Given the description of an element on the screen output the (x, y) to click on. 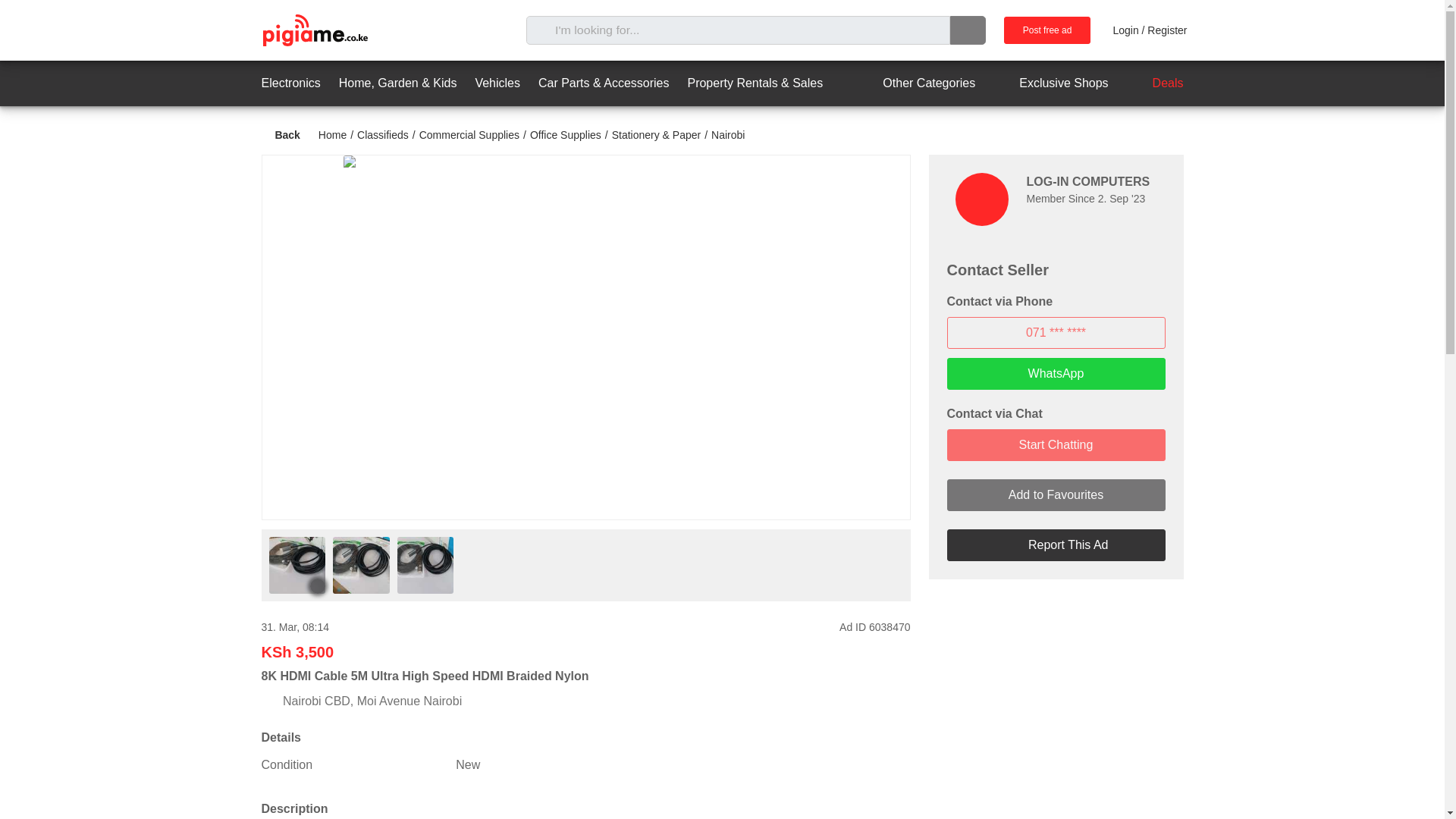
Home (332, 134)
PigiaMe (314, 29)
Nairobi (727, 134)
Other Categories (915, 83)
Start Chatting (1055, 445)
Add to Favourites (1055, 495)
Commercial Supplies (469, 134)
Deals (1155, 83)
WhatsApp (1055, 373)
Post free ad (1047, 30)
Office Supplies (565, 134)
Classifieds (382, 134)
Exclusive Shops (1050, 83)
Electronics (290, 83)
Back (279, 134)
